Given the description of an element on the screen output the (x, y) to click on. 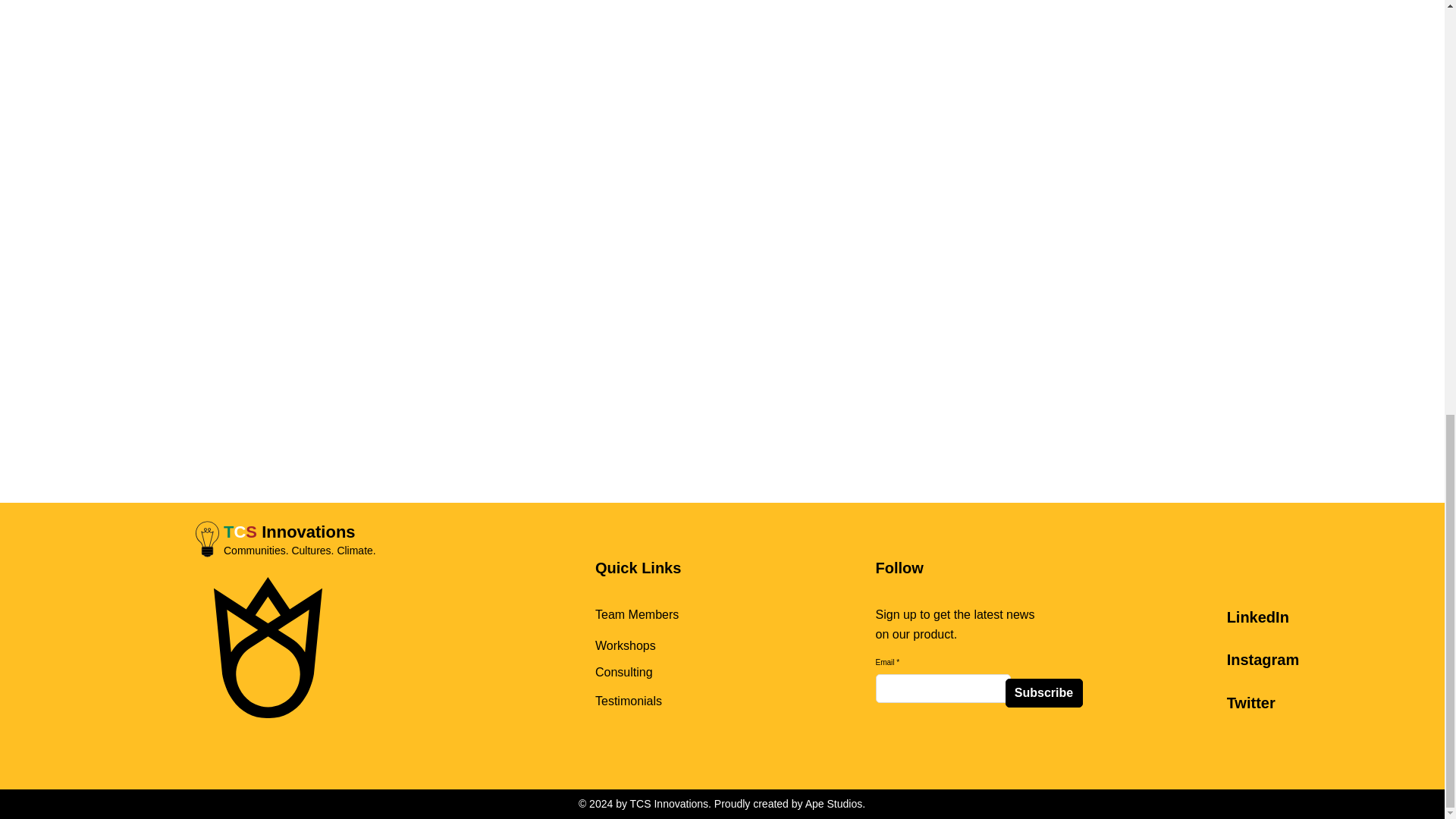
LinkedIn (1257, 617)
Instagram (1263, 659)
Consulting (623, 671)
Team Members (636, 614)
Ape Studios. (834, 803)
Testimonials (628, 700)
Twitter (1251, 702)
Workshops (625, 645)
Subscribe (1044, 692)
TCS Innovations (289, 531)
